Given the description of an element on the screen output the (x, y) to click on. 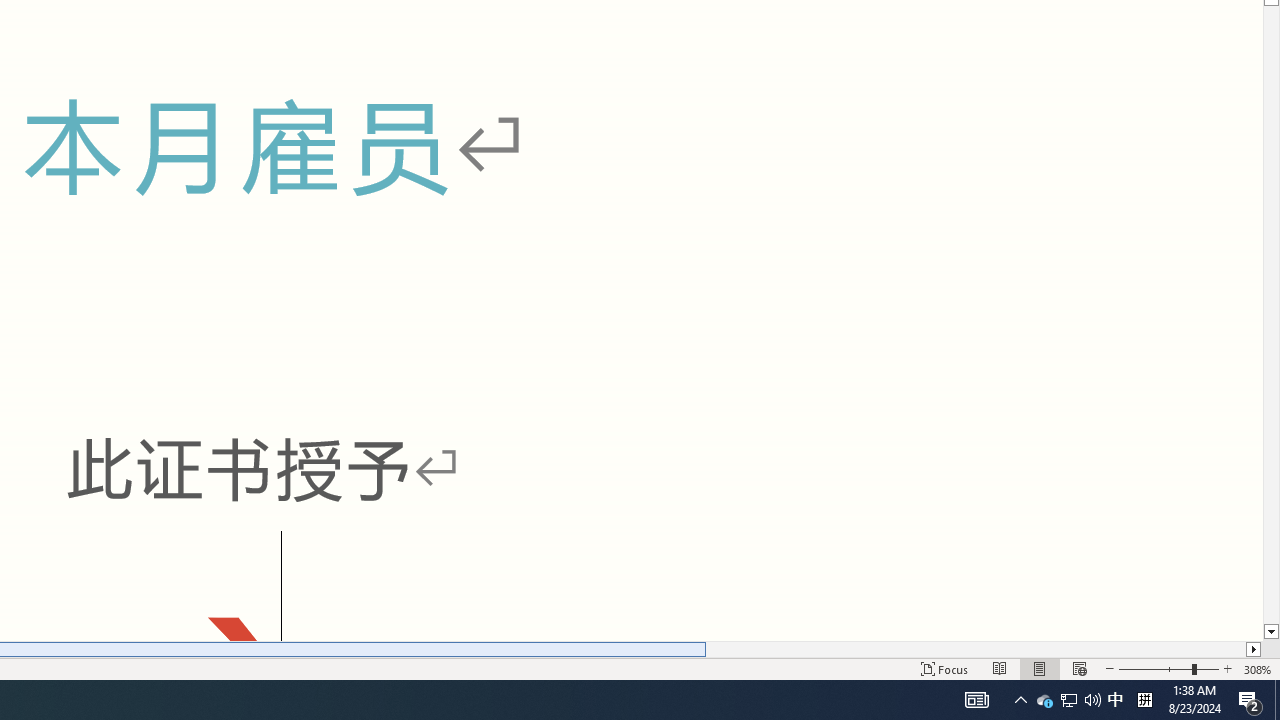
Zoom 308% (1258, 668)
